Given the description of an element on the screen output the (x, y) to click on. 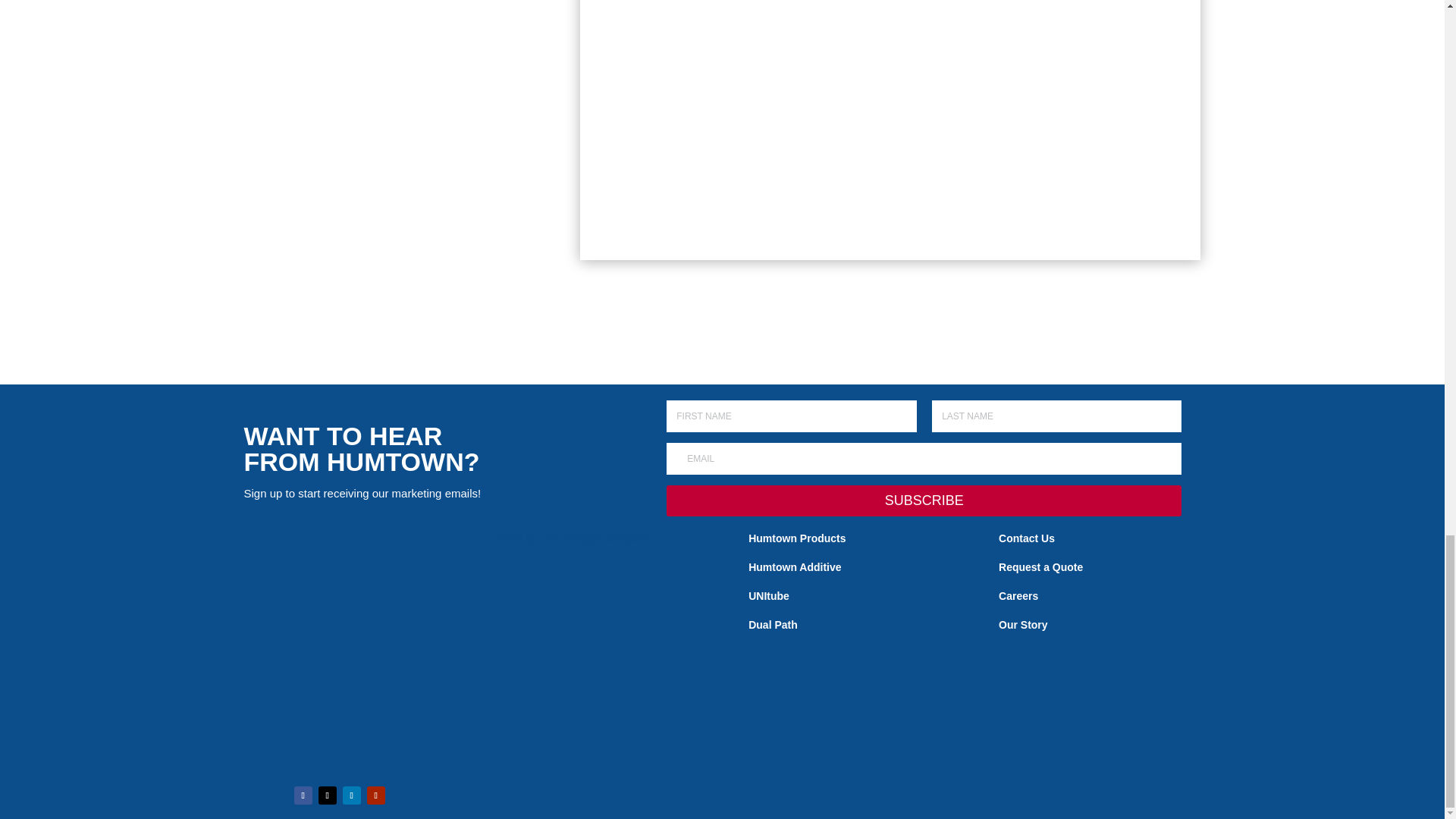
Follow on Facebook (303, 795)
Follow on LinkedIn (351, 795)
Follow on X (327, 795)
Follow on Youtube (375, 795)
